Given the description of an element on the screen output the (x, y) to click on. 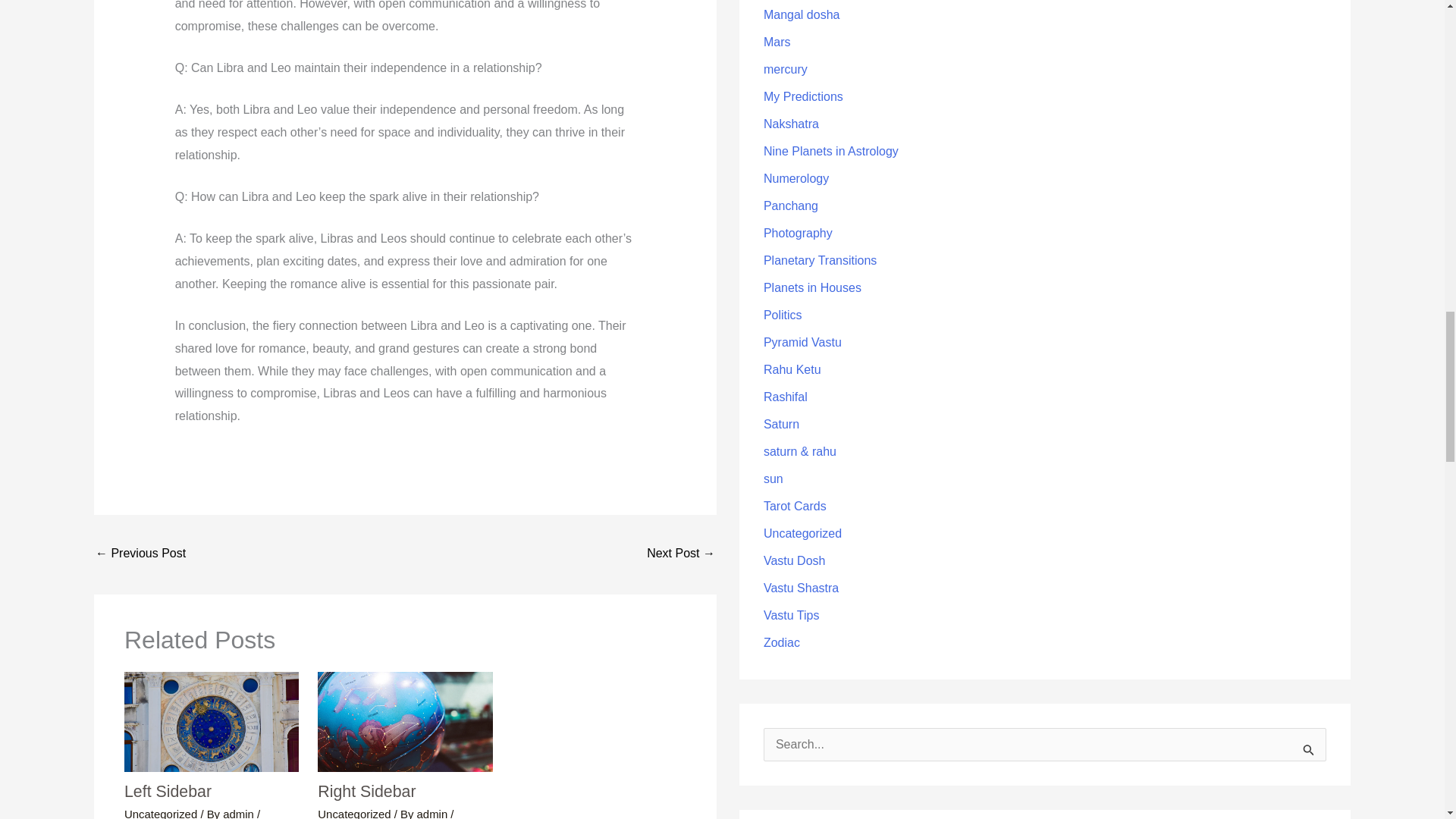
admin (239, 813)
Uncategorized (159, 813)
Uncategorized (353, 813)
Your Daily Horoscope: Unlocking the Secrets of Your Future (680, 554)
View all posts by admin (433, 813)
View all posts by admin (239, 813)
Right Sidebar (365, 791)
Left Sidebar (167, 791)
admin (433, 813)
